Given the description of an element on the screen output the (x, y) to click on. 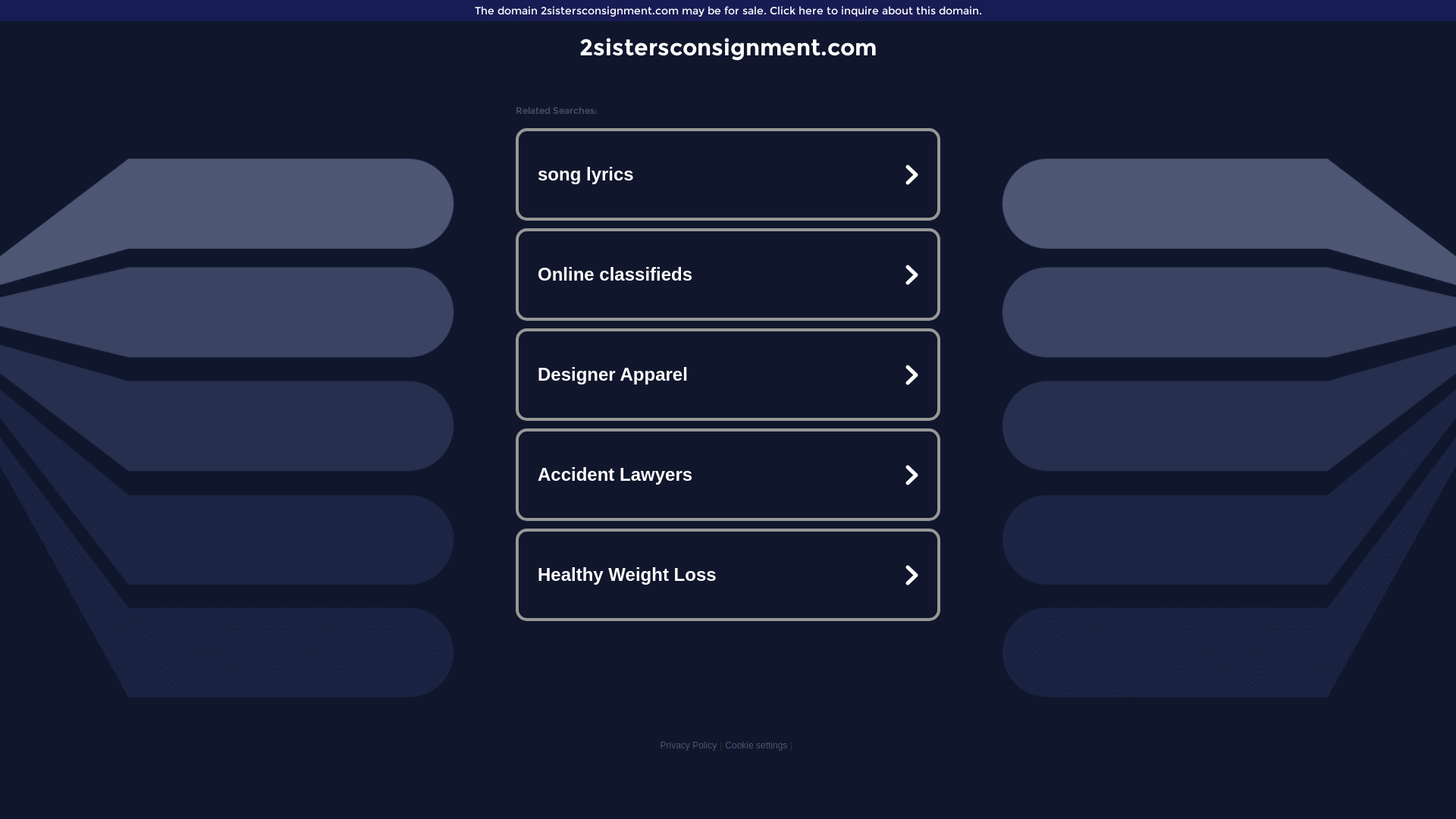
Online classifieds Element type: text (727, 274)
2sistersconsignment.com Element type: text (727, 47)
Designer Apparel Element type: text (727, 374)
Privacy Policy Element type: text (687, 745)
song lyrics Element type: text (727, 174)
Accident Lawyers Element type: text (727, 474)
Cookie settings Element type: text (755, 745)
Healthy Weight Loss Element type: text (727, 574)
